Given the description of an element on the screen output the (x, y) to click on. 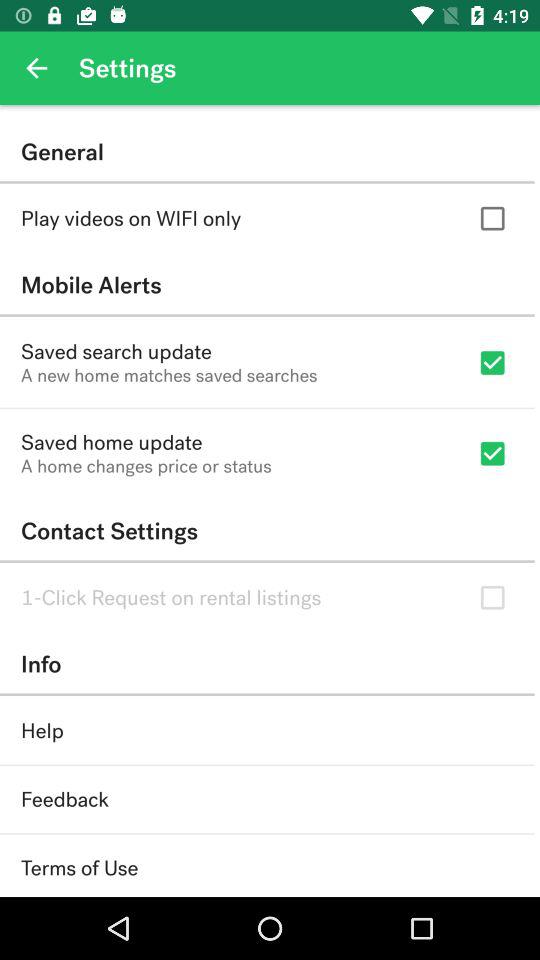
choose 1 click request (171, 597)
